Given the description of an element on the screen output the (x, y) to click on. 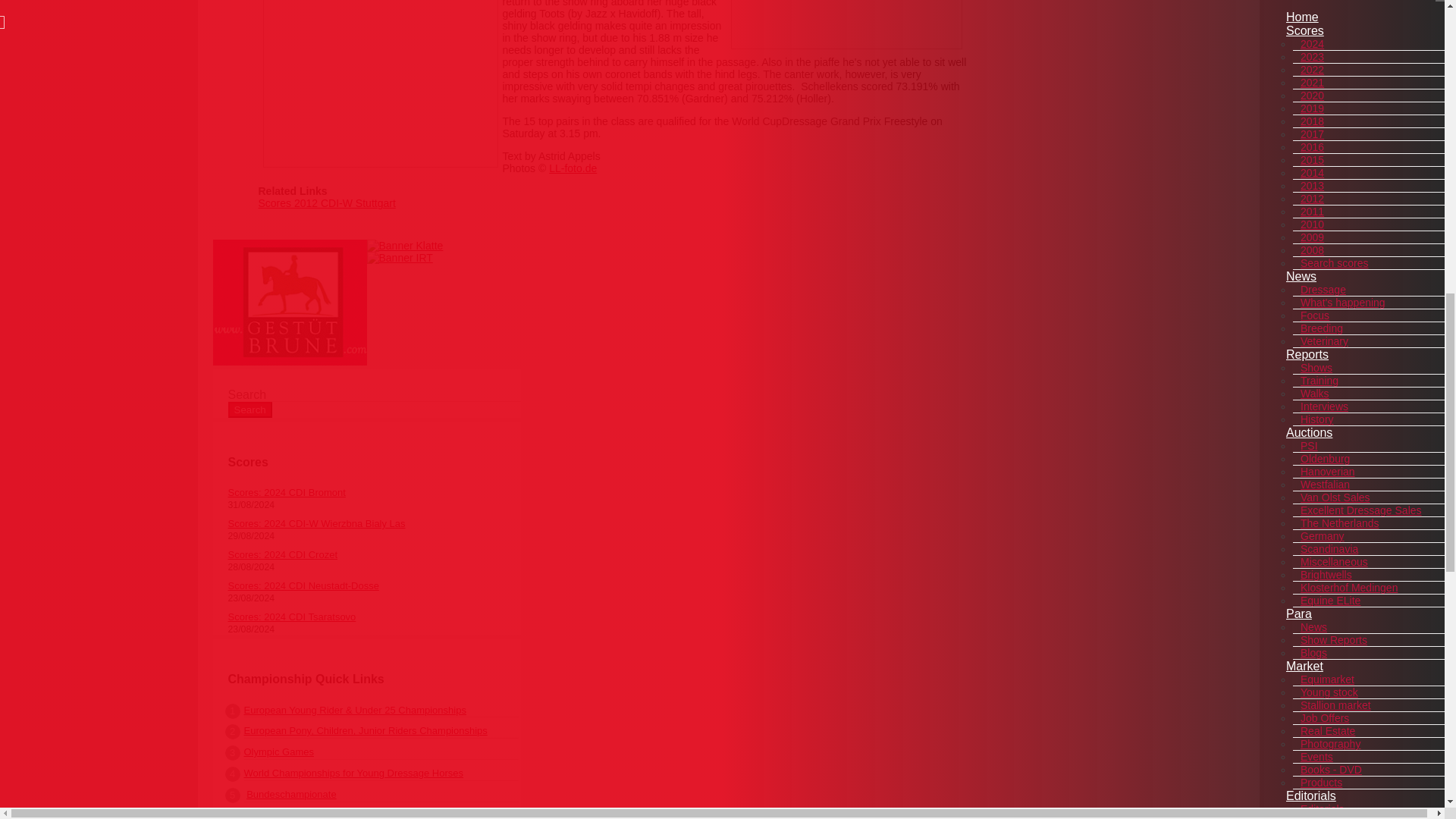
Enter the terms you wish to search for. (373, 395)
Imke Schellekens-Bartels on Toots (379, 83)
Valentina Truppa on Eremo del Castegno (846, 24)
